Given the description of an element on the screen output the (x, y) to click on. 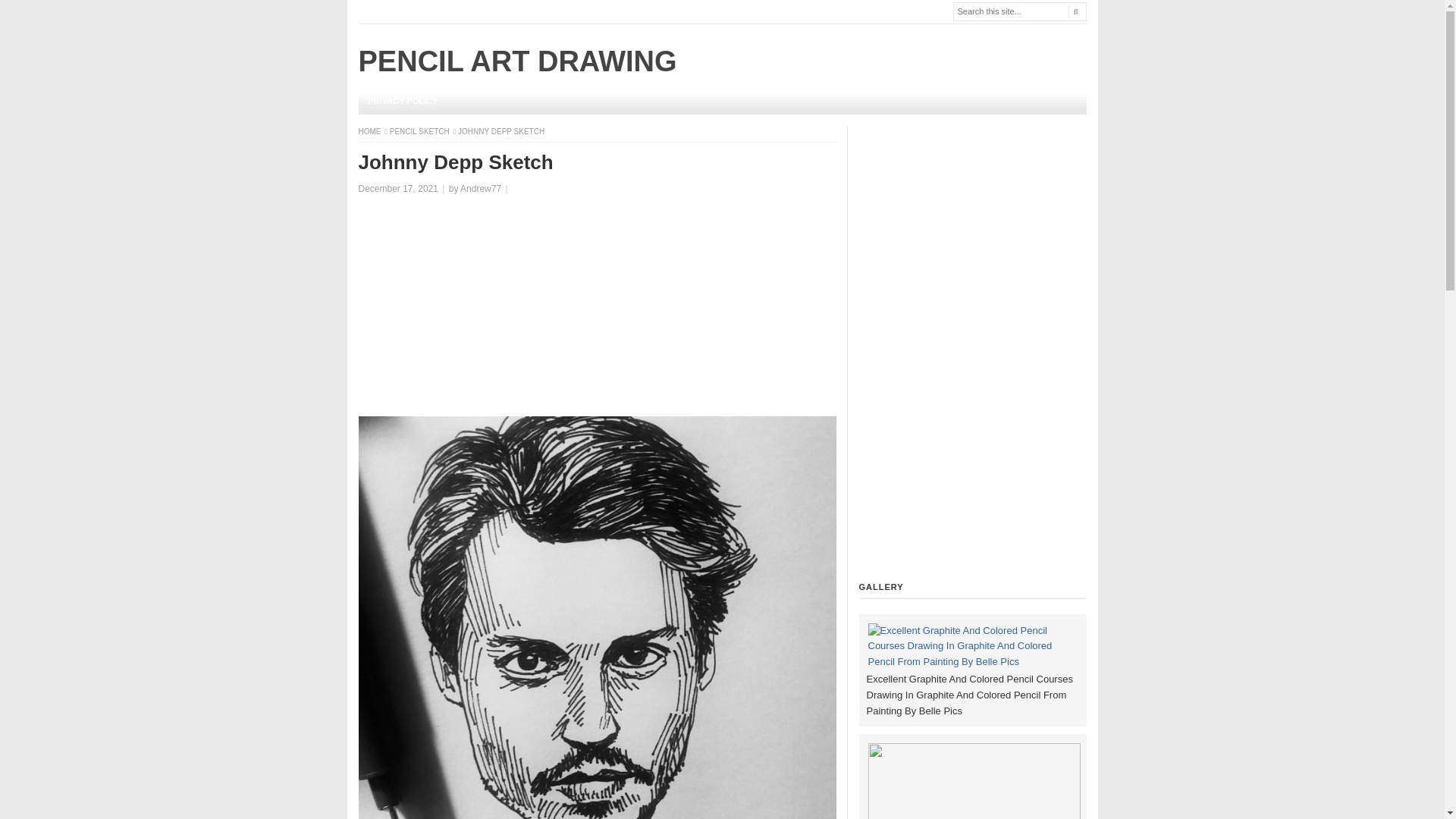
Pencil Art Drawing (369, 131)
PRIVACY POLICY (402, 100)
PENCIL SKETCH (420, 131)
HOME (369, 131)
Andrew77 (480, 188)
PENCIL ART DRAWING (517, 61)
